Given the description of an element on the screen output the (x, y) to click on. 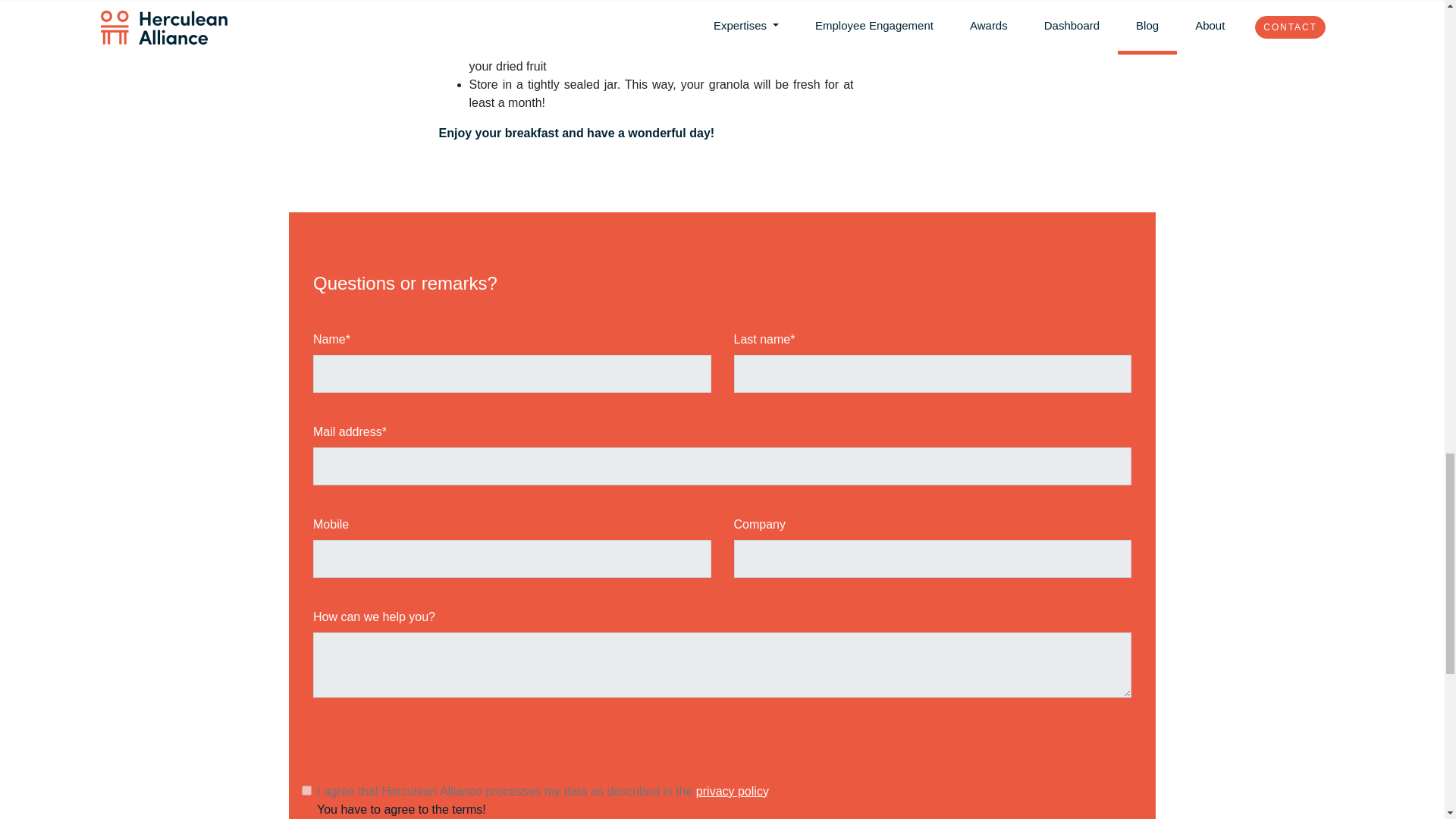
privacy policy (731, 790)
ok (306, 790)
